Given the description of an element on the screen output the (x, y) to click on. 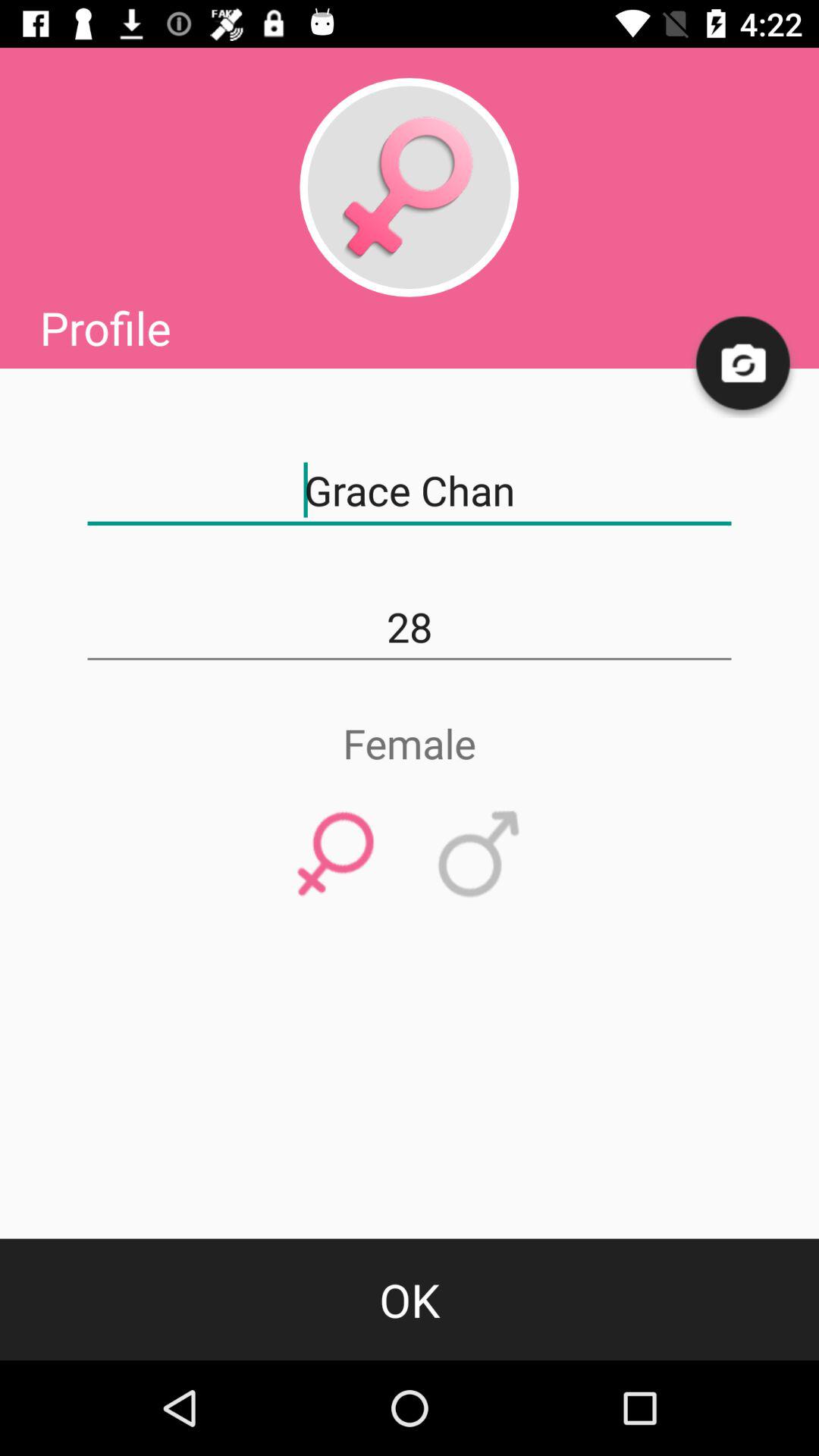
female selection (335, 854)
